Given the description of an element on the screen output the (x, y) to click on. 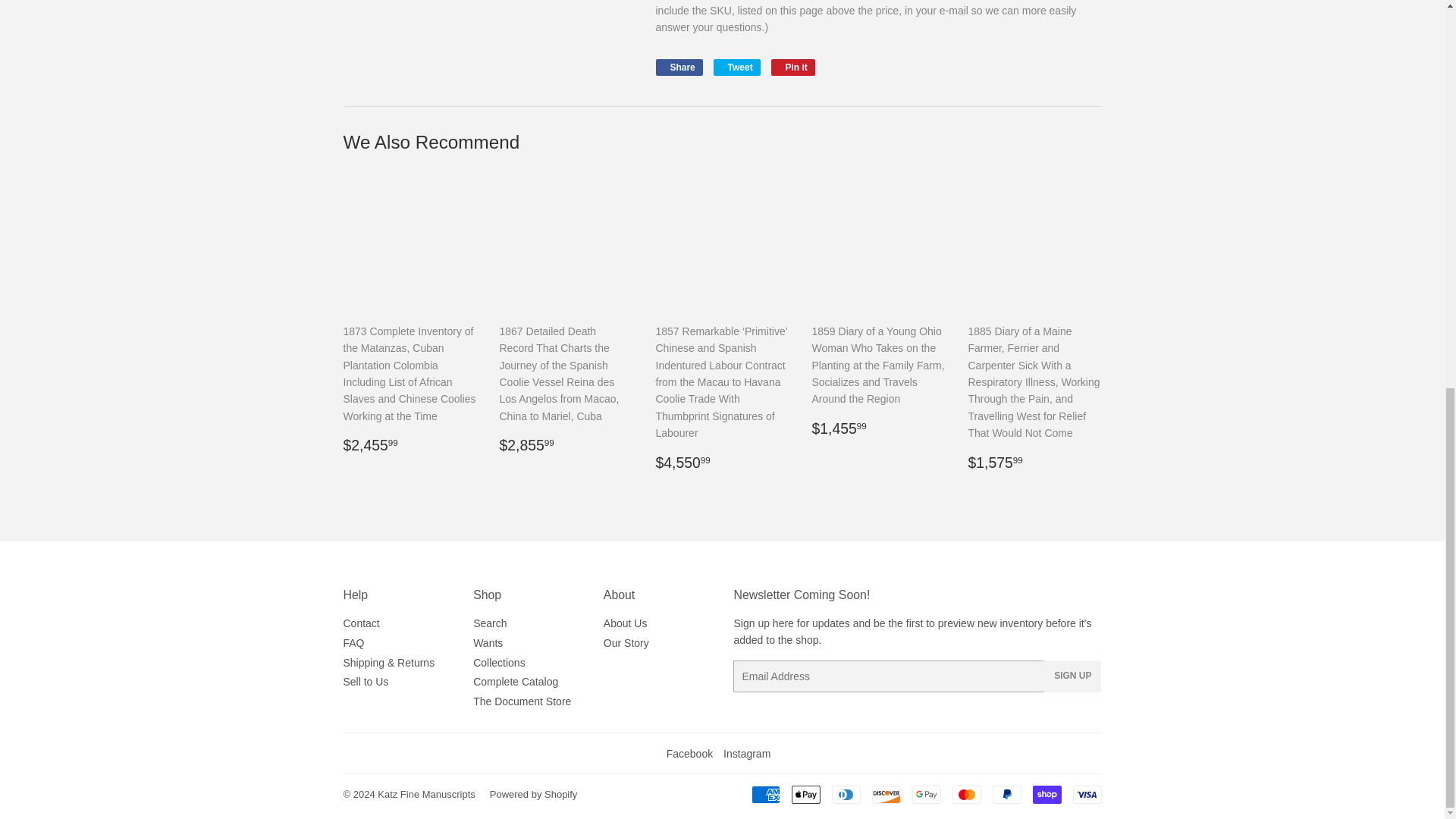
Mastercard (678, 67)
Katz Fine Manuscripts on Facebook (966, 794)
Shop Pay (689, 753)
Tweet on Twitter (1046, 794)
American Express (736, 67)
PayPal (764, 794)
Apple Pay (1005, 794)
Discover (806, 794)
